Given the description of an element on the screen output the (x, y) to click on. 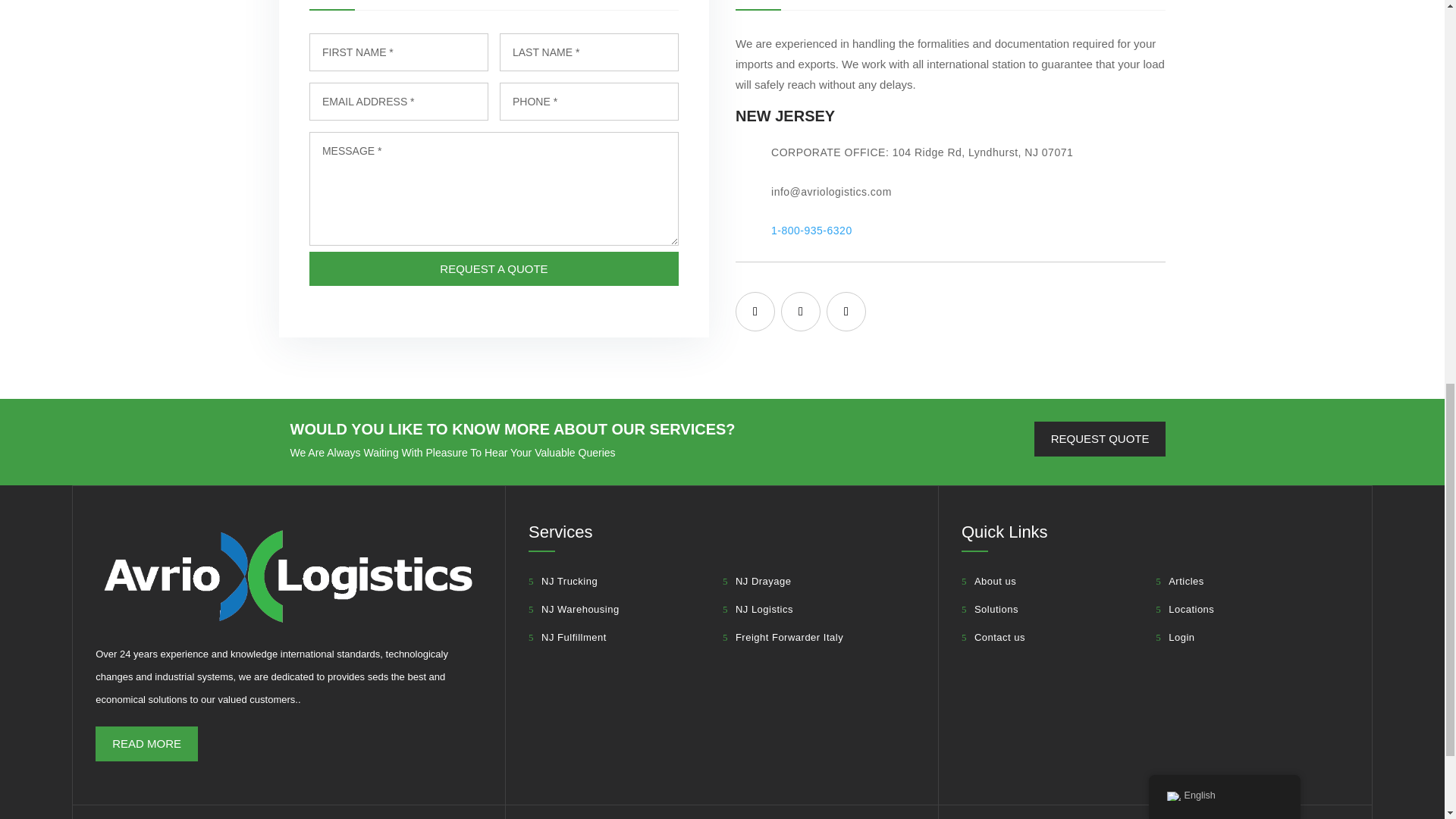
Articles (1180, 581)
Solutions (988, 609)
Only numbers allowed. (588, 101)
Follow on Instagram (846, 311)
NJ Fulfillment (567, 637)
1-800-935-6320 (811, 230)
Locations (1185, 609)
About us (988, 581)
NJ Trucking (562, 581)
Follow on X (800, 311)
